Given the description of an element on the screen output the (x, y) to click on. 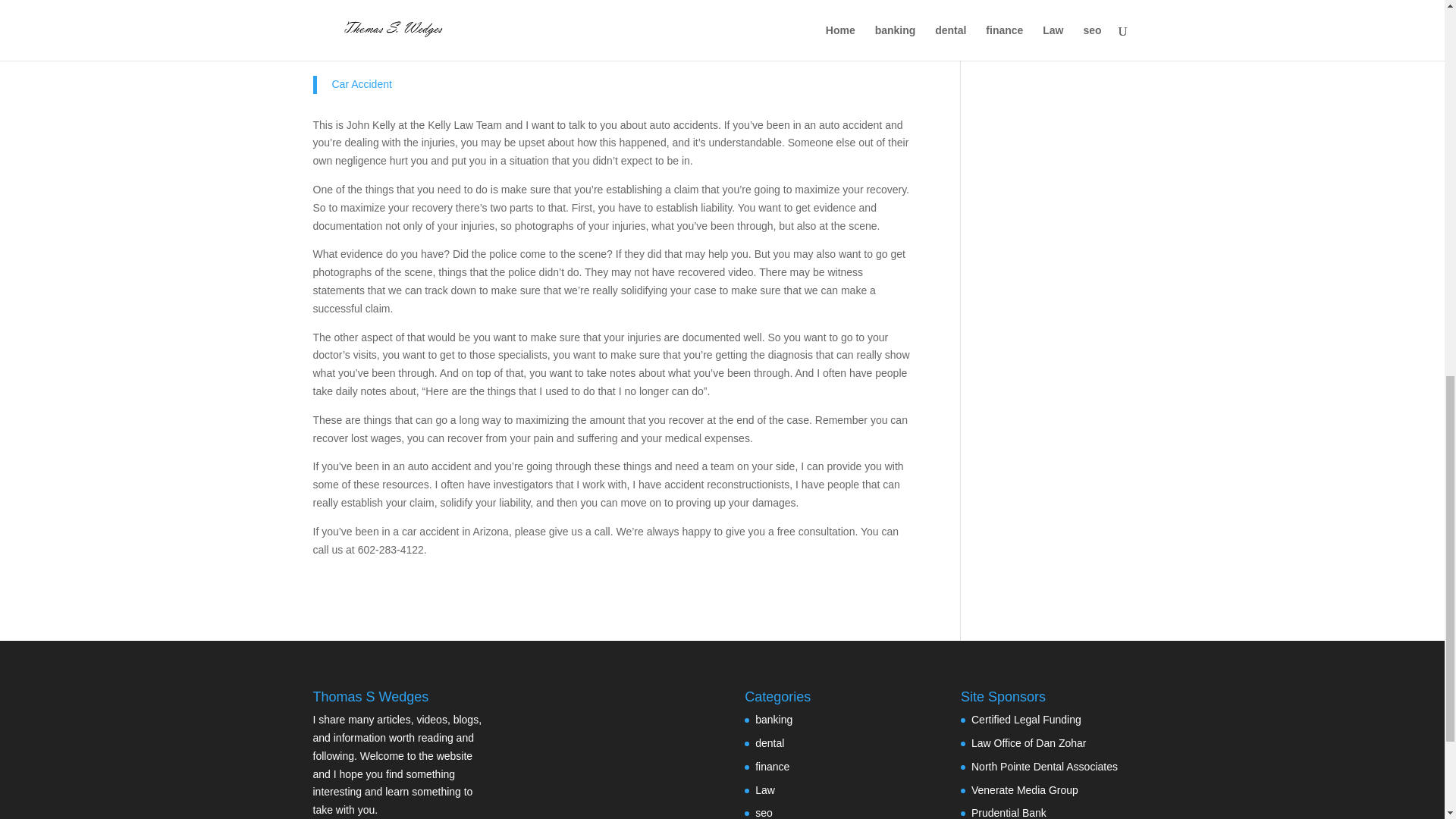
Digital Marketing Agency (1024, 789)
Law Office of Dan Zohar (1028, 743)
North Pointe Dental Associates (1044, 766)
Certified Legal Funding (1026, 719)
Pre Settlement Lawsuit loan funding (1026, 719)
banking (773, 719)
seo (764, 812)
finance (772, 766)
Car Accident (361, 83)
Venerate Media Group (1024, 789)
Tampa Law Office for Personal Injuries (1028, 743)
dental (769, 743)
Law (764, 789)
Prudential Bank (1008, 812)
Tampa Dentist for All Dental needs (1044, 766)
